Given the description of an element on the screen output the (x, y) to click on. 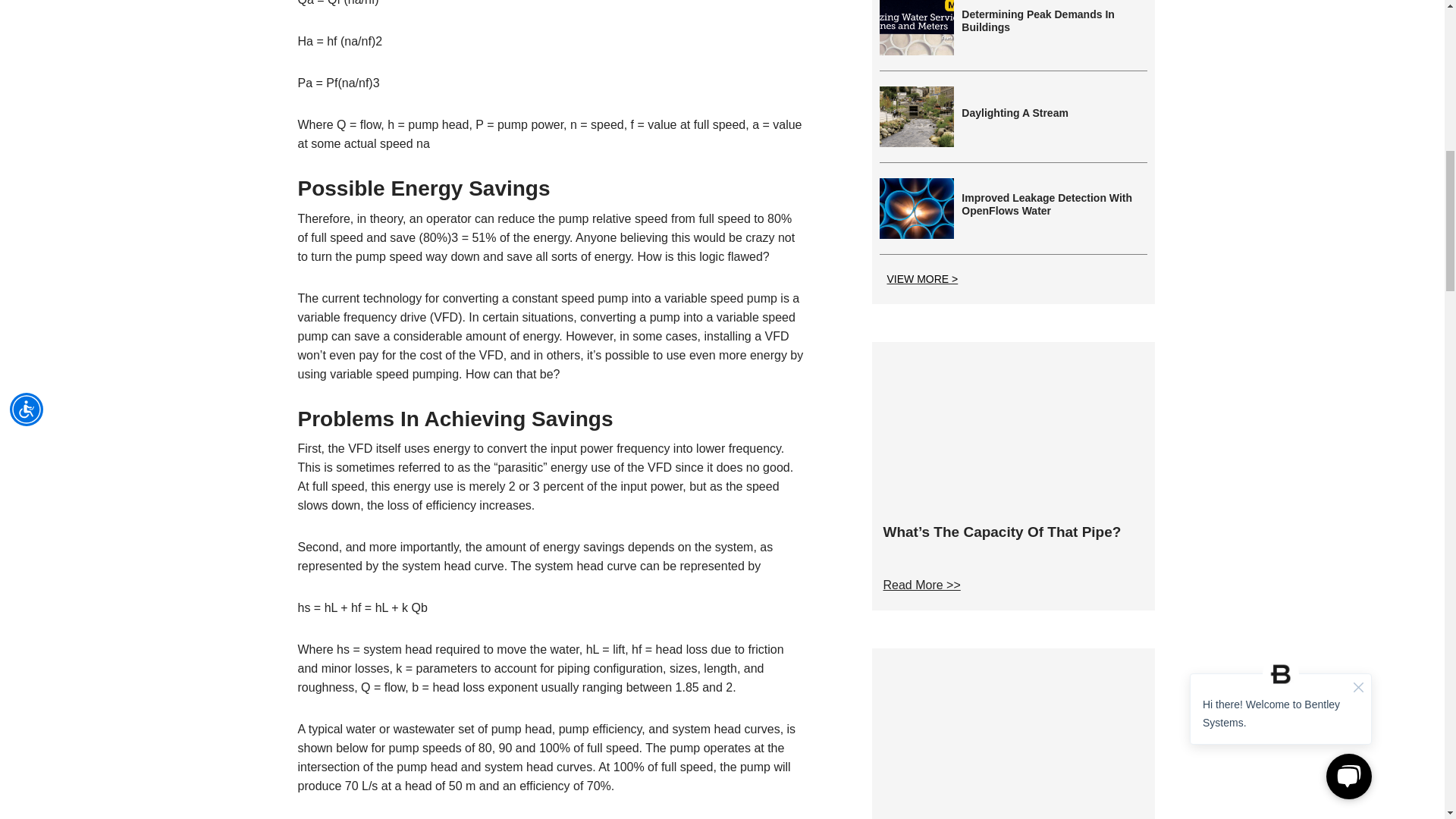
Scroll back to top (1403, 716)
